Given the description of an element on the screen output the (x, y) to click on. 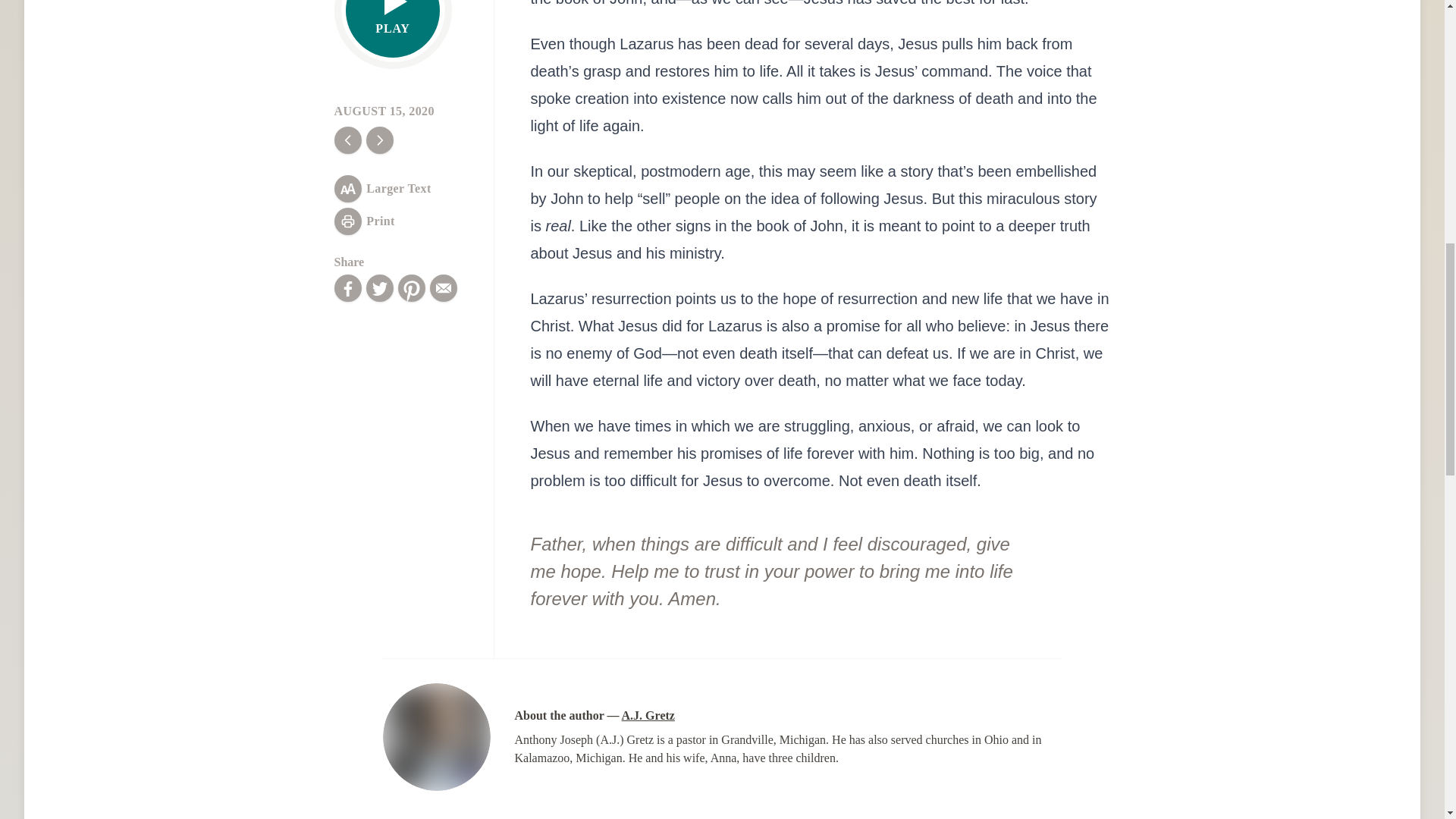
Share on Pinterest (411, 288)
Share by Email (443, 288)
Share on Twitter (379, 288)
Share on Facebook (347, 288)
Print (363, 221)
Share on Pinterest (411, 288)
Share by Email (443, 288)
Larger Text (381, 188)
A.J. Gretz (648, 715)
PLAY (392, 28)
Share on Facebook (347, 288)
Share on Twitter (379, 288)
